Given the description of an element on the screen output the (x, y) to click on. 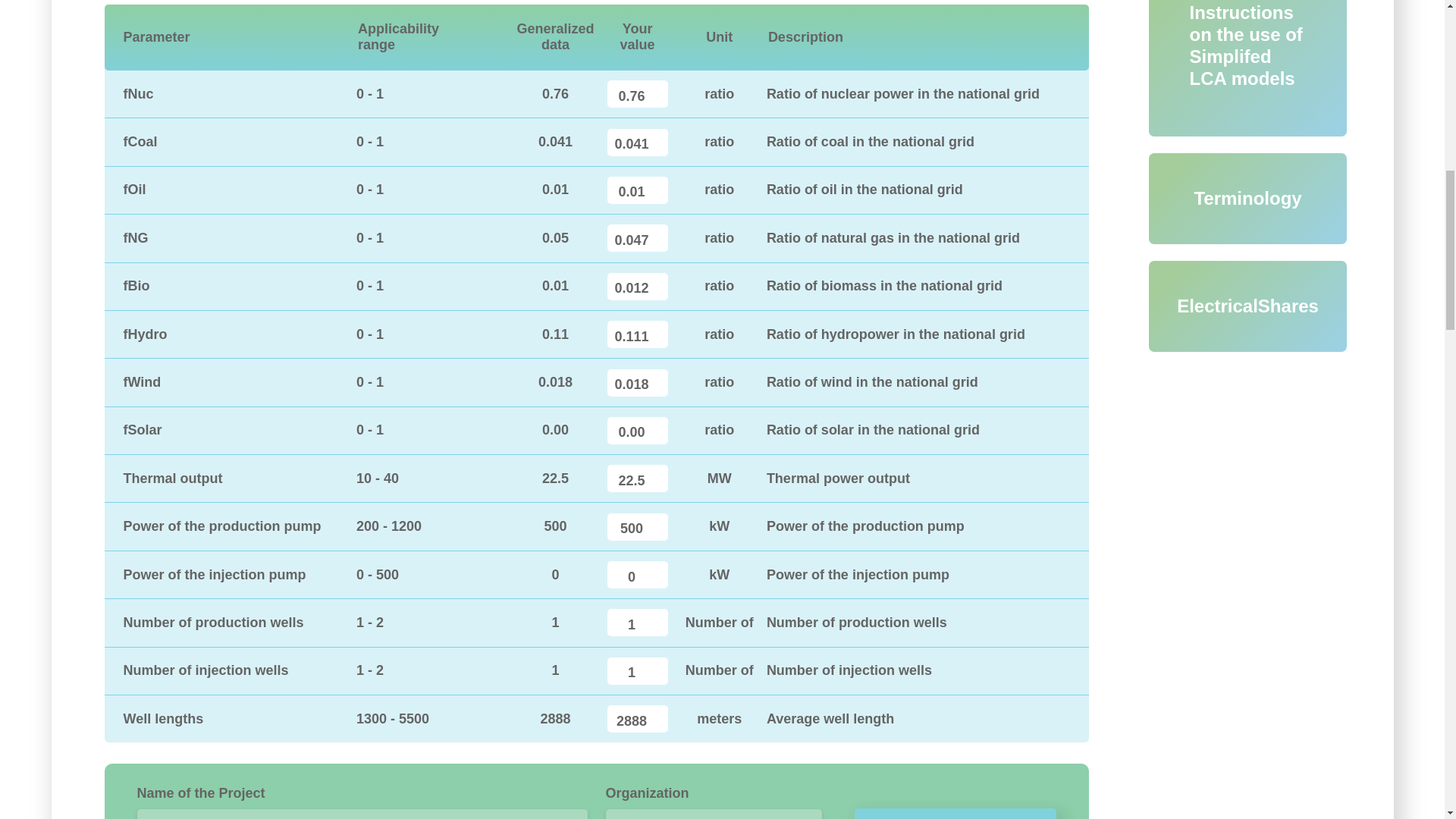
1 (637, 622)
1 (637, 670)
0.012 (637, 286)
0.01 (637, 189)
500 (637, 526)
0.00 (637, 430)
0 (637, 574)
0.041 (637, 142)
0.047 (637, 237)
0.111 (637, 334)
Generate Result (955, 813)
0.018 (637, 381)
0.76 (637, 93)
22.5 (637, 478)
2888 (637, 718)
